Given the description of an element on the screen output the (x, y) to click on. 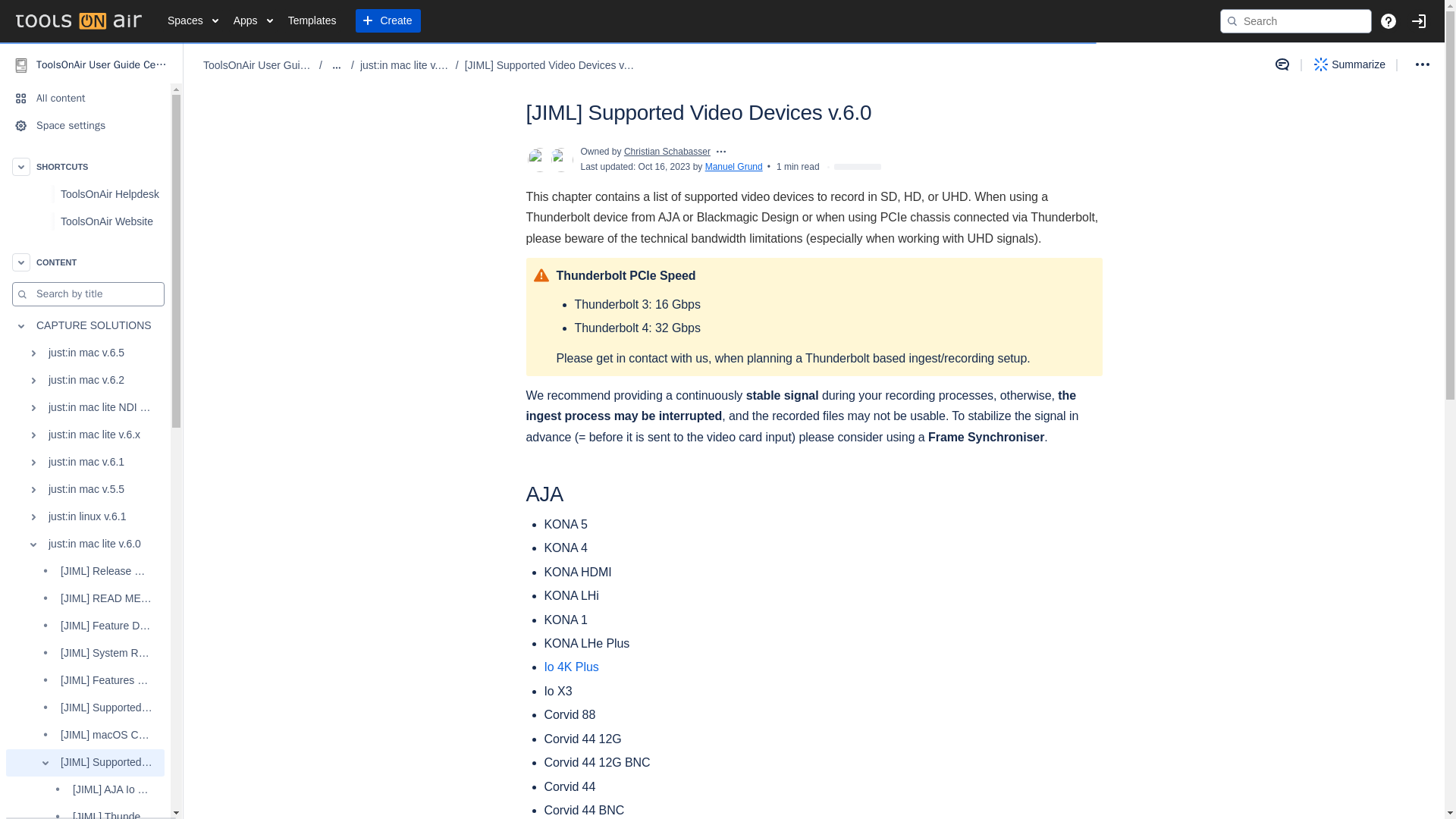
ToolsOnAir Website (84, 221)
SHORTCUTS (84, 166)
ToolsOnAir Website (111, 221)
just:in mac v.5.5 (84, 489)
just:in mac lite NDI v.6.x (84, 407)
ToolsOnAir Helpdesk (84, 194)
CAPTURE SOLUTIONS (84, 325)
Templates (311, 21)
just:in mac lite v.6.x (84, 434)
Space settings (84, 125)
